Given the description of an element on the screen output the (x, y) to click on. 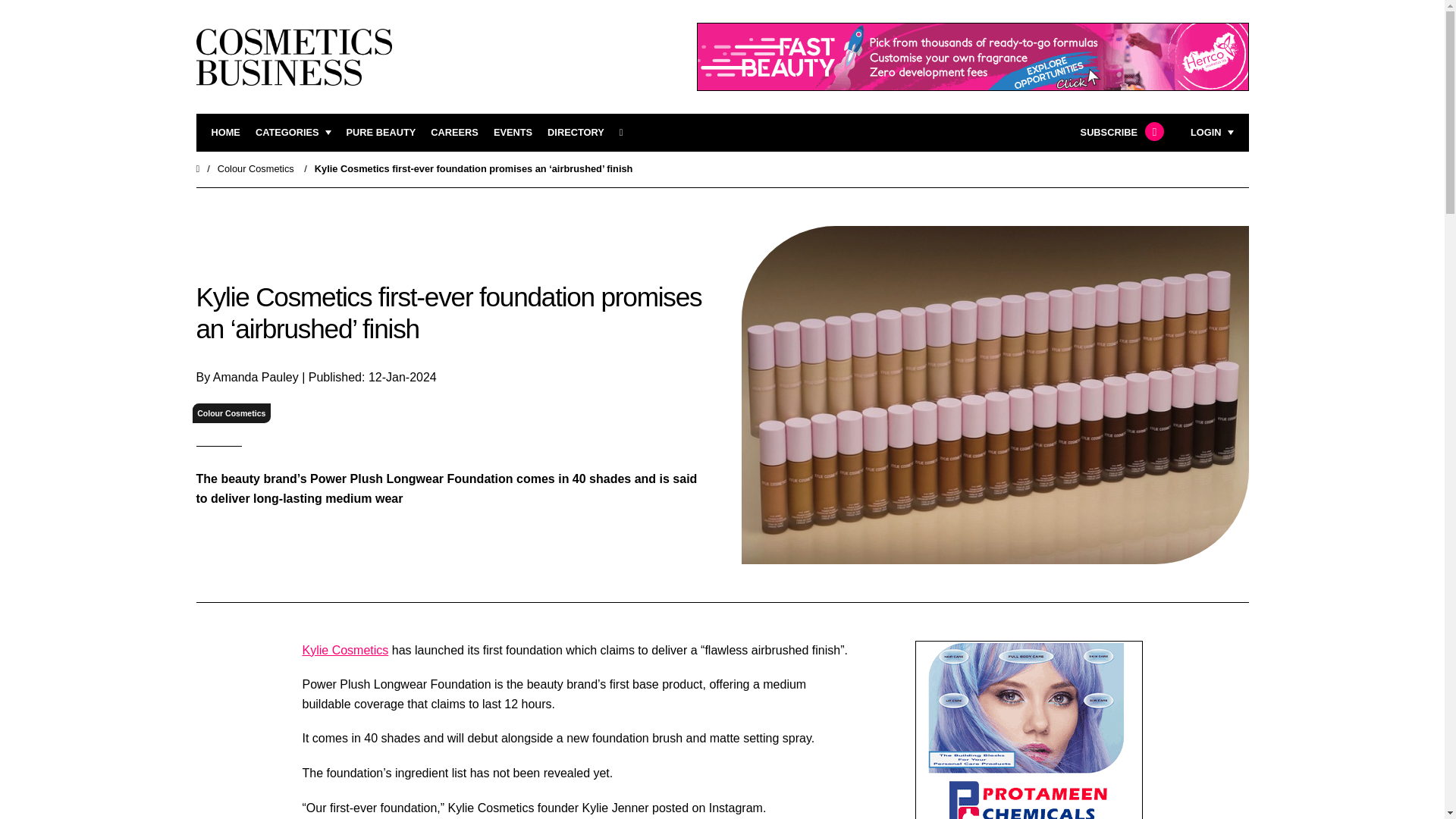
LOGIN (1212, 133)
DIRECTORY (575, 133)
HOME (225, 133)
CATEGORIES (293, 133)
Directory (575, 133)
Pure Beauty (381, 133)
Kylie Cosmetics (344, 649)
Colour Cosmetics (231, 413)
Colour Cosmetics (255, 168)
PURE BEAUTY (381, 133)
SUBSCRIBE (1120, 133)
CAREERS (454, 133)
SEARCH (626, 133)
EVENTS (512, 133)
Sign In (1134, 321)
